Given the description of an element on the screen output the (x, y) to click on. 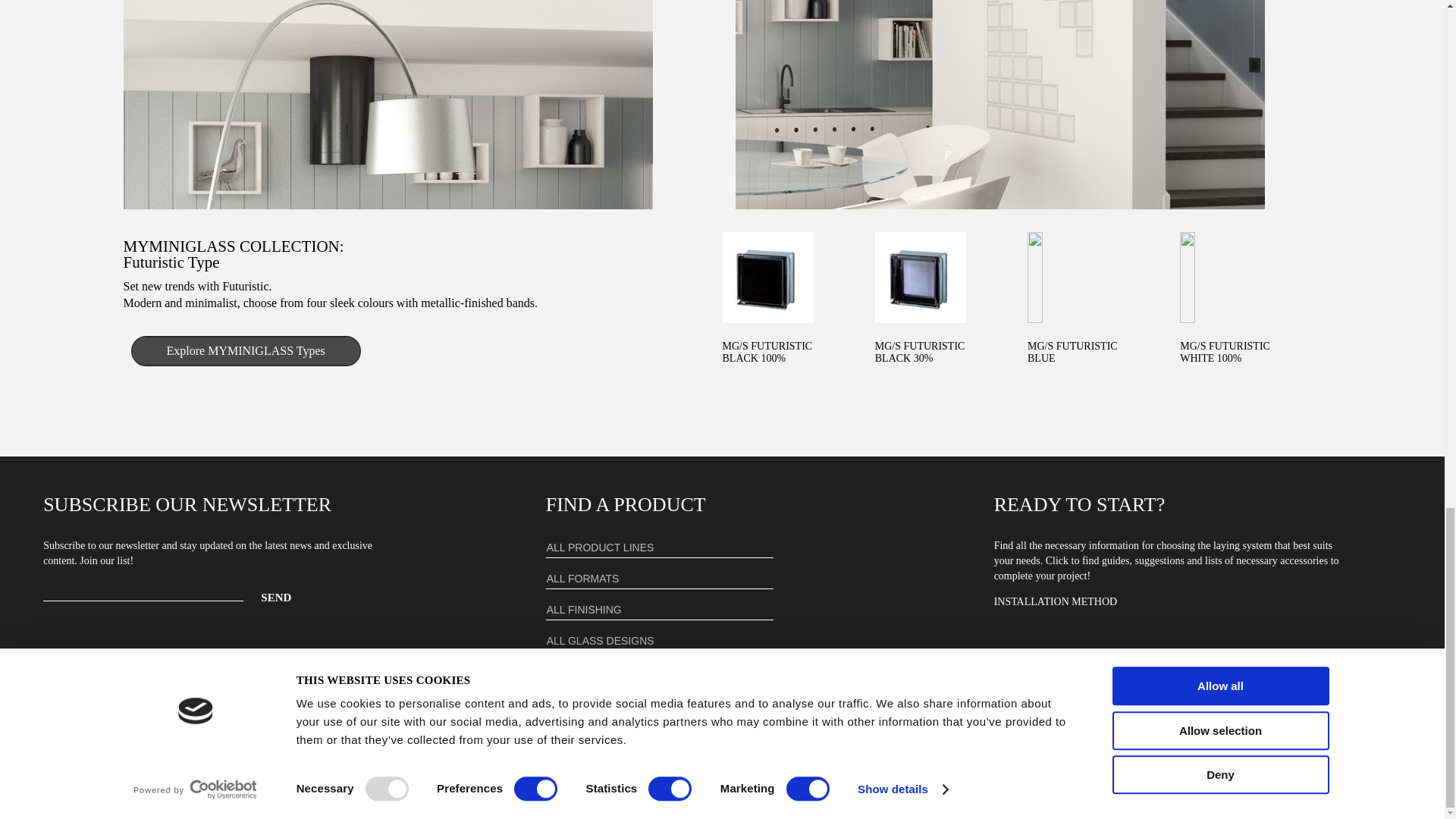
futuristic-kitchen3 (1000, 104)
Send (276, 597)
futuristic-kitchen2 (387, 104)
Submit (568, 671)
MyMiniGlass (245, 350)
